Given the description of an element on the screen output the (x, y) to click on. 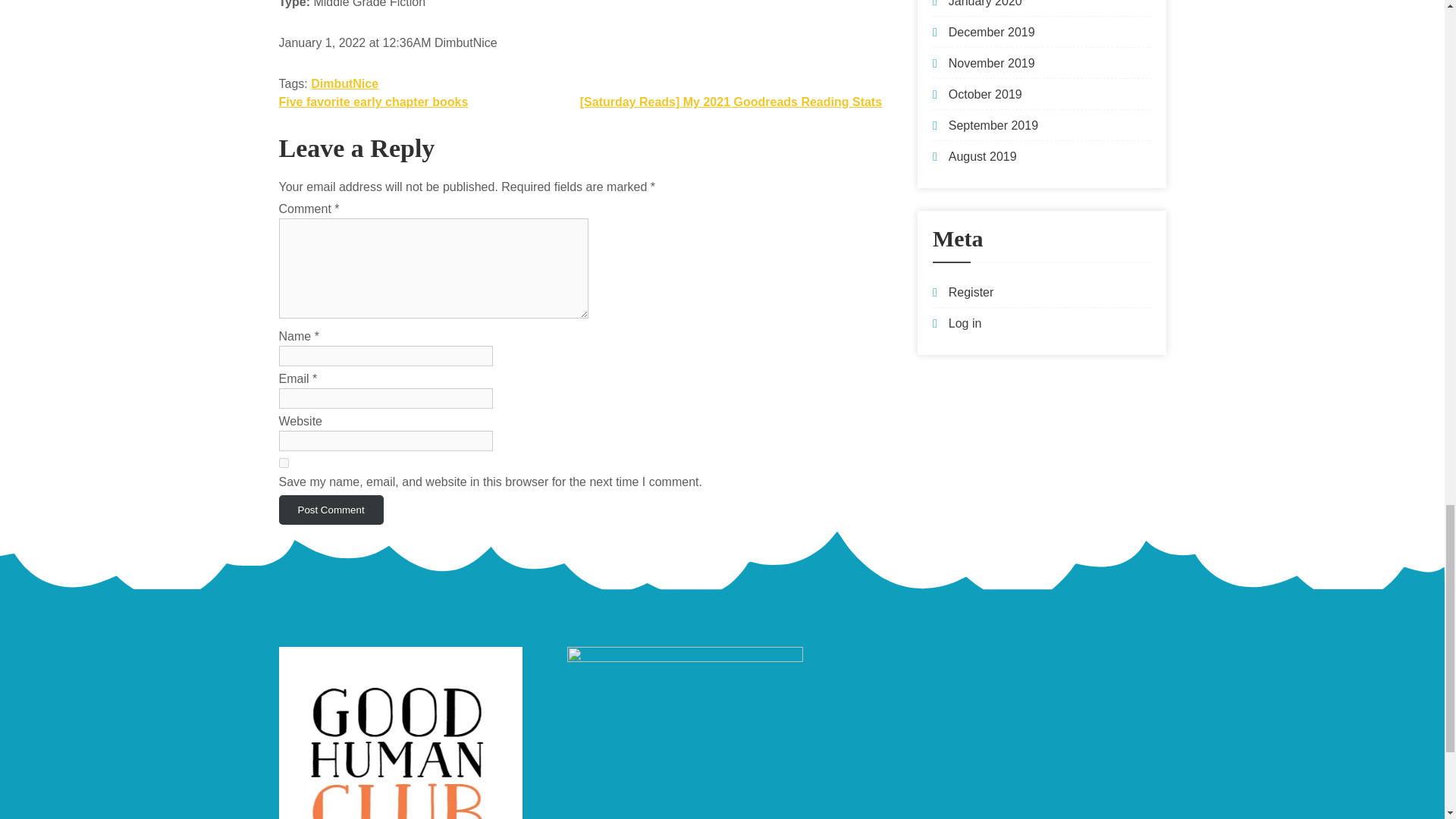
DimbutNice (344, 83)
Post Comment (331, 509)
Post Comment (331, 509)
Five favorite early chapter books (373, 101)
yes (283, 462)
